Given the description of an element on the screen output the (x, y) to click on. 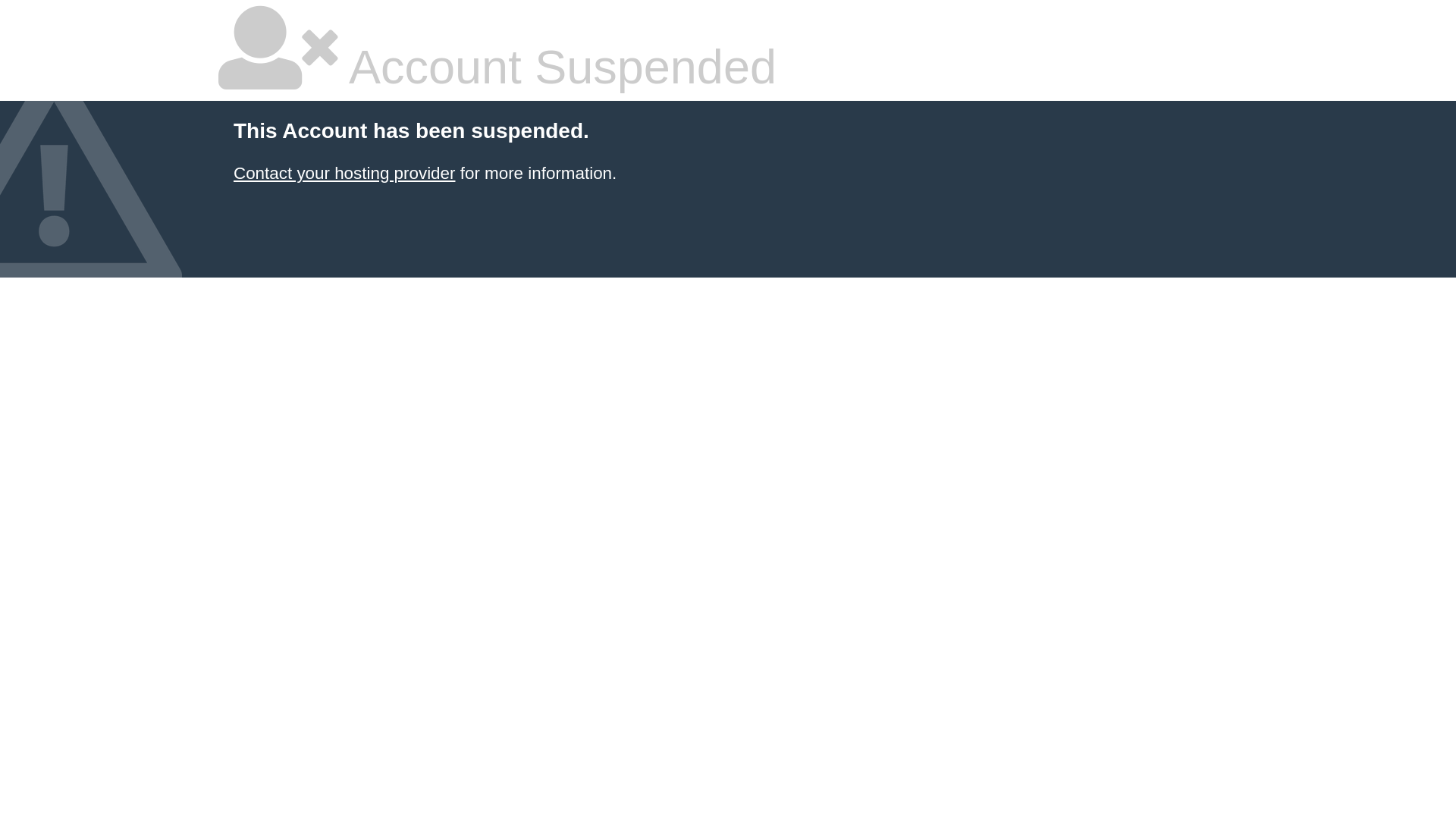
Contact your hosting provider Element type: text (344, 172)
